Given the description of an element on the screen output the (x, y) to click on. 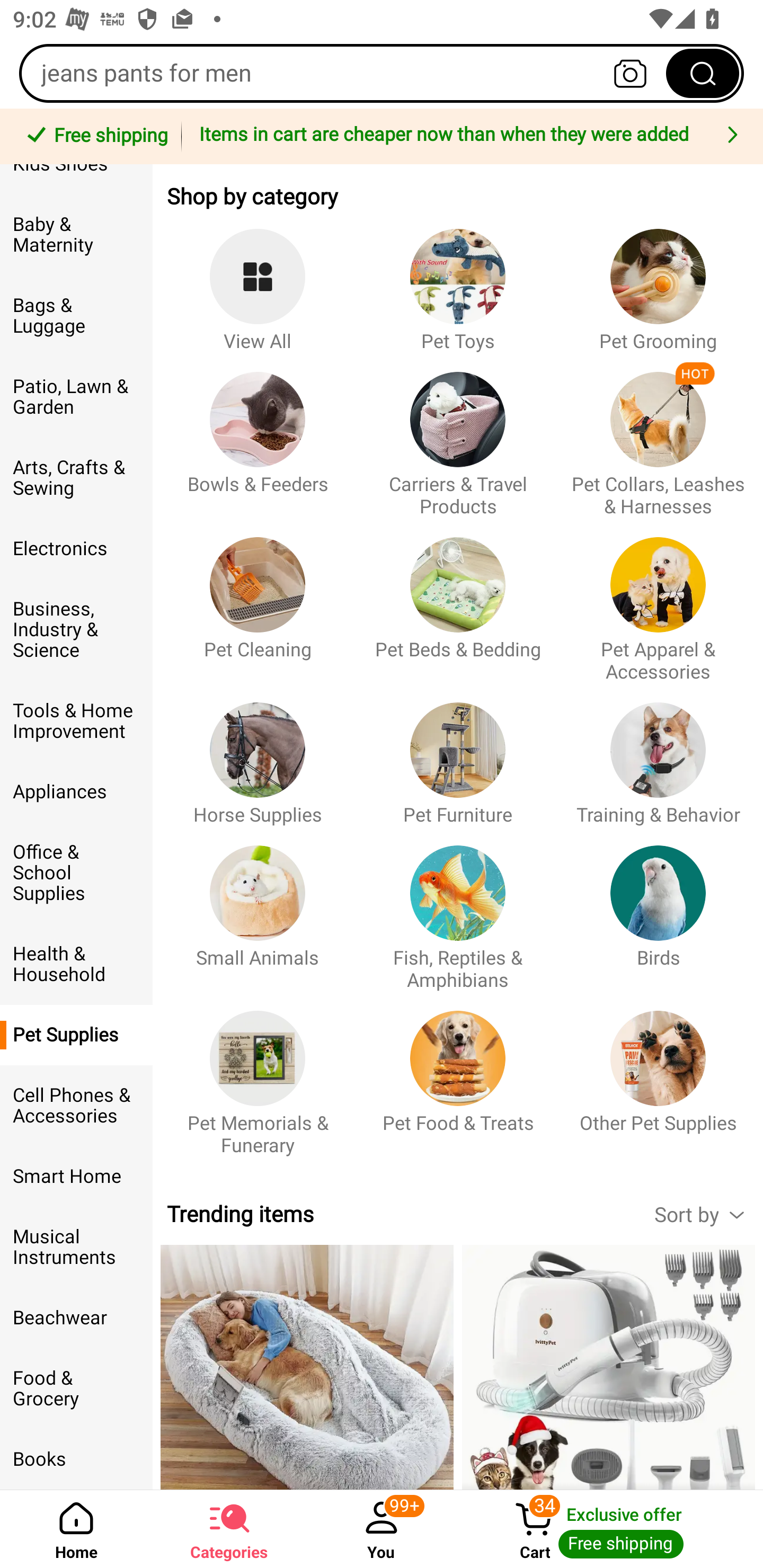
jeans pants for men (381, 73)
 Free shipping (93, 136)
Baby & Maternity (76, 234)
View All (257, 281)
Pet Toys (457, 281)
Pet Grooming (657, 281)
Bags & Luggage (76, 315)
Bowls & Feeders (257, 434)
Carriers & Travel Products (457, 434)
Pet Collars, Leashes & Harnesses (657, 434)
Patio, Lawn & Garden (76, 396)
Arts, Crafts & Sewing (76, 478)
Pet Cleaning (257, 600)
Pet Beds & Bedding (457, 600)
Pet Apparel & Accessories (657, 600)
Electronics (76, 548)
Business, Industry & Science (76, 629)
Tools & Home Improvement (76, 721)
Horse Supplies (257, 754)
Pet Furniture (457, 754)
Training & Behavior (657, 754)
Appliances (76, 791)
Office & School Supplies (76, 872)
Small Animals (257, 908)
Fish, Reptiles & Amphibians (457, 908)
Birds (657, 908)
Health & Household (76, 964)
Pet Memorials & Funerary (257, 1073)
Pet Food & Treats (457, 1073)
Other Pet Supplies (657, 1073)
Pet Supplies (76, 1034)
Cell Phones & Accessories (76, 1105)
Smart Home (76, 1176)
Sort by (708, 1213)
Musical Instruments (76, 1247)
Beachwear (76, 1317)
Food & Grocery (76, 1388)
Books (76, 1458)
Home (76, 1528)
Categories (228, 1528)
You ‎99+‎ You (381, 1528)
Cart 34 Cart Exclusive offer (610, 1528)
